Given the description of an element on the screen output the (x, y) to click on. 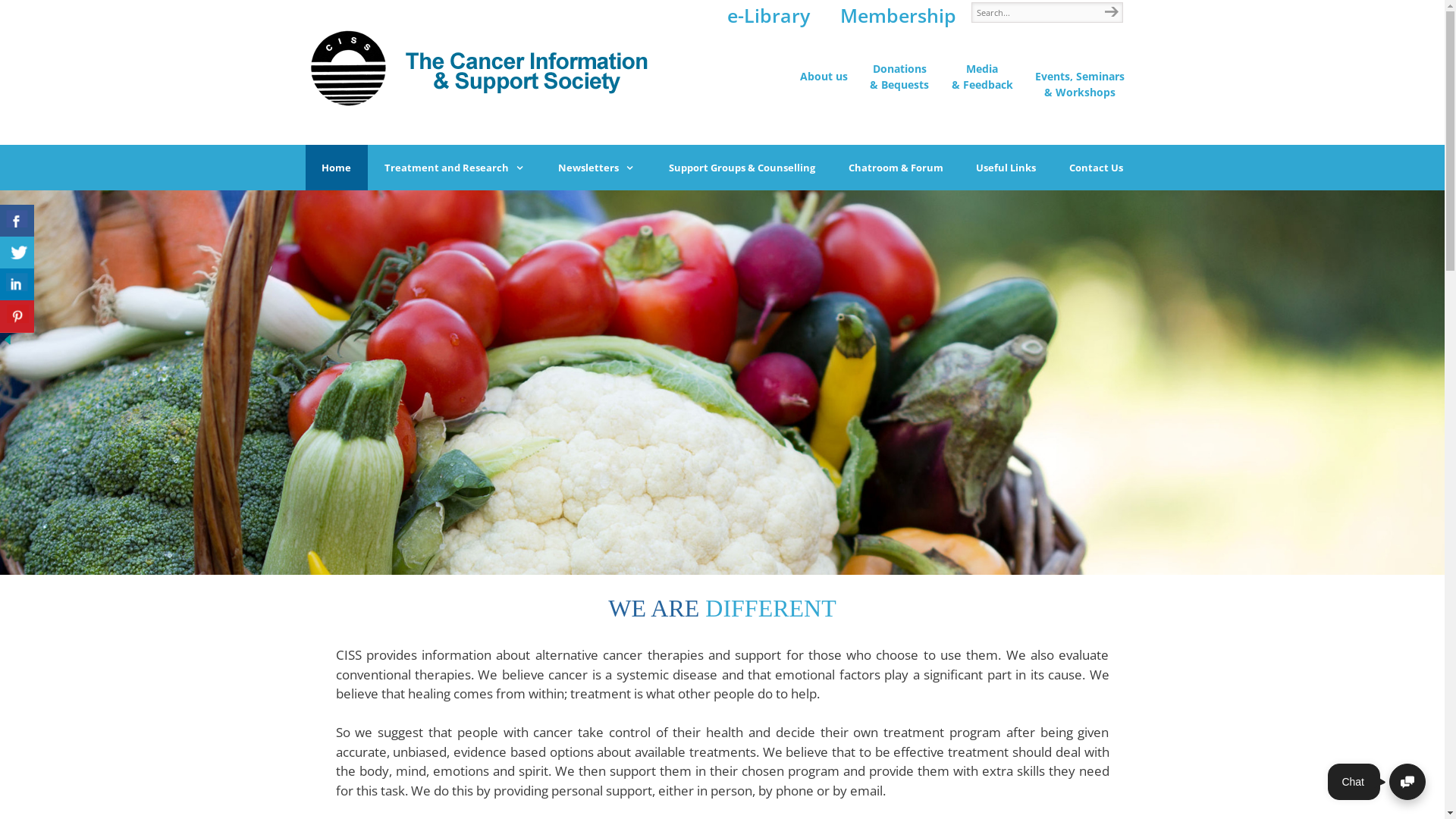
Search Element type: text (1110, 12)
Membership Element type: text (898, 15)
Share On Pinterest Element type: hover (17, 316)
Share On Linkedin Element type: hover (17, 284)
Chatroom & Forum Element type: text (895, 167)
Events, Seminars
& Workshops Element type: text (1079, 83)
Useful Links Element type: text (1005, 167)
Donations
& Bequests Element type: text (899, 76)
Media
& Feedback Element type: text (981, 76)
Share This With Your Friends Element type: hover (18, 278)
Support Groups & Counselling Element type: text (741, 167)
Contact Us Element type: text (1095, 167)
Share On Twitter Element type: hover (17, 252)
Share On Facebook Element type: hover (17, 220)
Cancer Information & Support Society Element type: hover (482, 66)
About us Element type: text (823, 75)
Newsletters Element type: text (597, 167)
Treatment and Research Element type: text (454, 167)
Cancer Information & Support Society Element type: hover (482, 68)
e-Library Element type: text (767, 15)
Home Element type: text (335, 167)
Hide Buttons Element type: hover (7, 342)
